Given the description of an element on the screen output the (x, y) to click on. 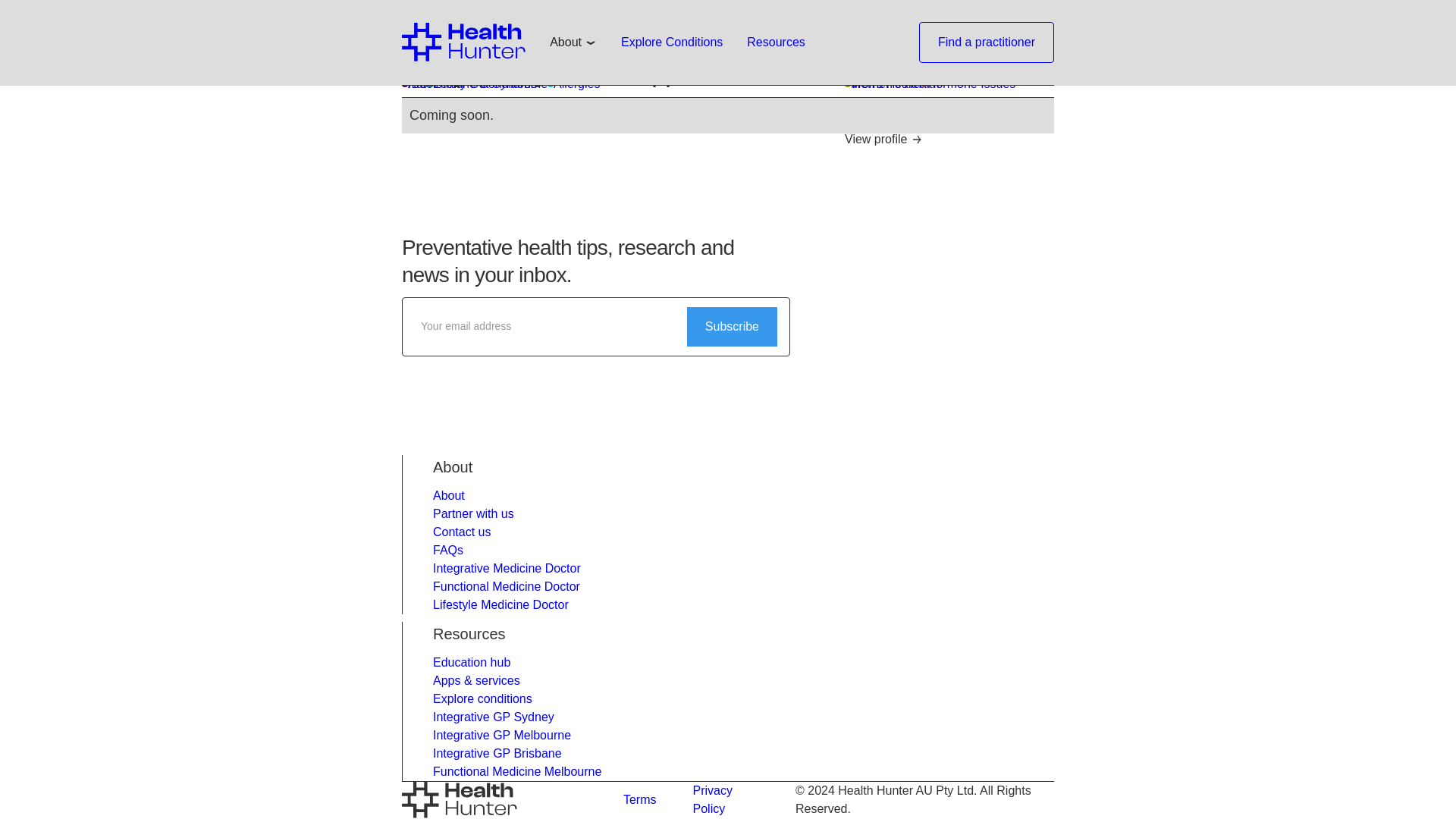
Autism (423, 102)
Autoimmune Conditions (469, 84)
Men's Health (882, 84)
IBS (414, 84)
Subscribe (732, 326)
Women's Health (891, 84)
Dermatology (755, 47)
Autism (644, 29)
Autoimmune Conditions (690, 29)
Gut Health (568, 64)
Hormone Issues (968, 84)
Chronic Disease (670, 47)
Gut Health (971, 64)
Children's Health (715, 9)
Allergies (790, 9)
